Given the description of an element on the screen output the (x, y) to click on. 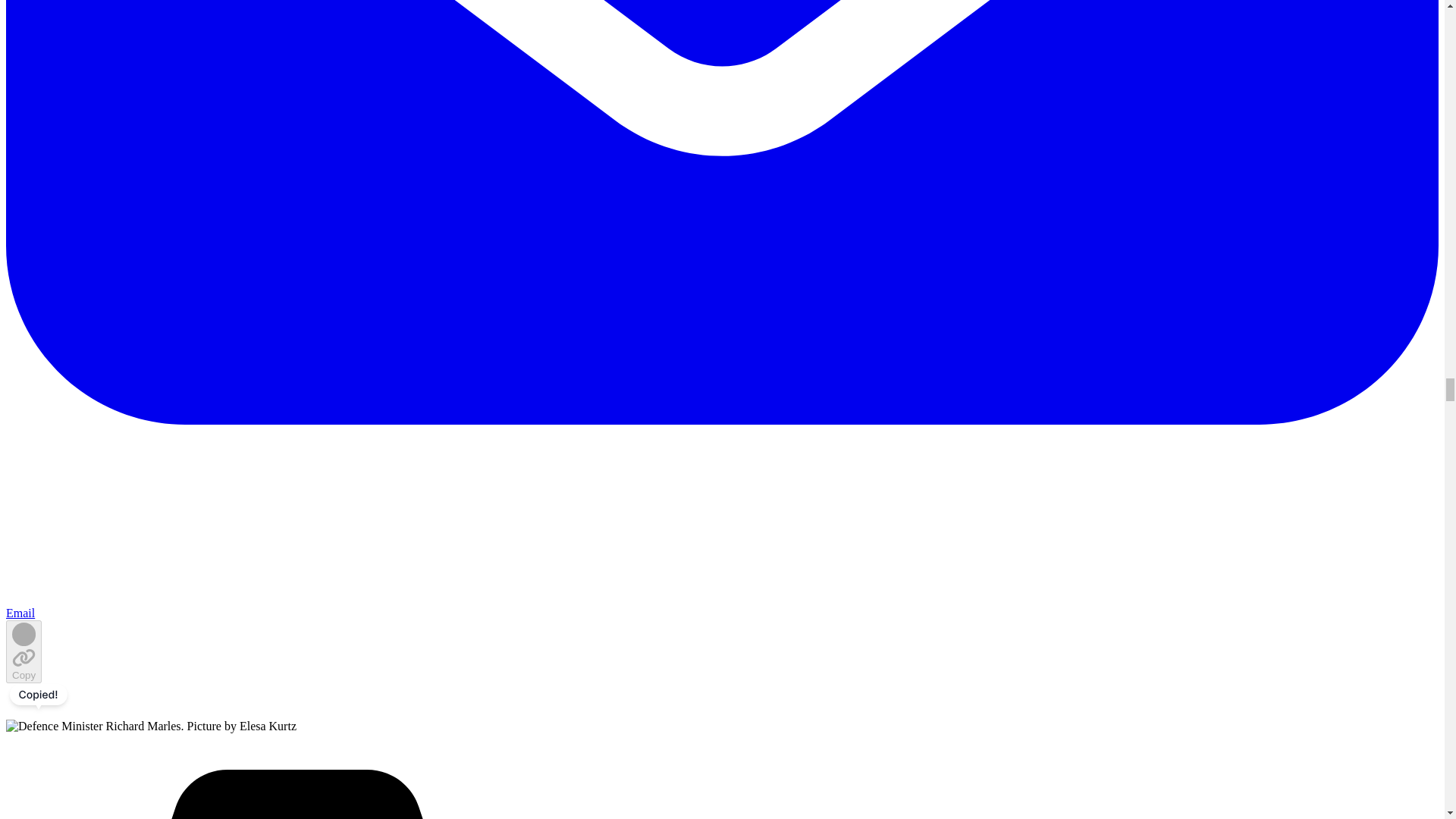
Defence Minister Richard Marles. Picture by Elesa Kurtz (151, 726)
